Given the description of an element on the screen output the (x, y) to click on. 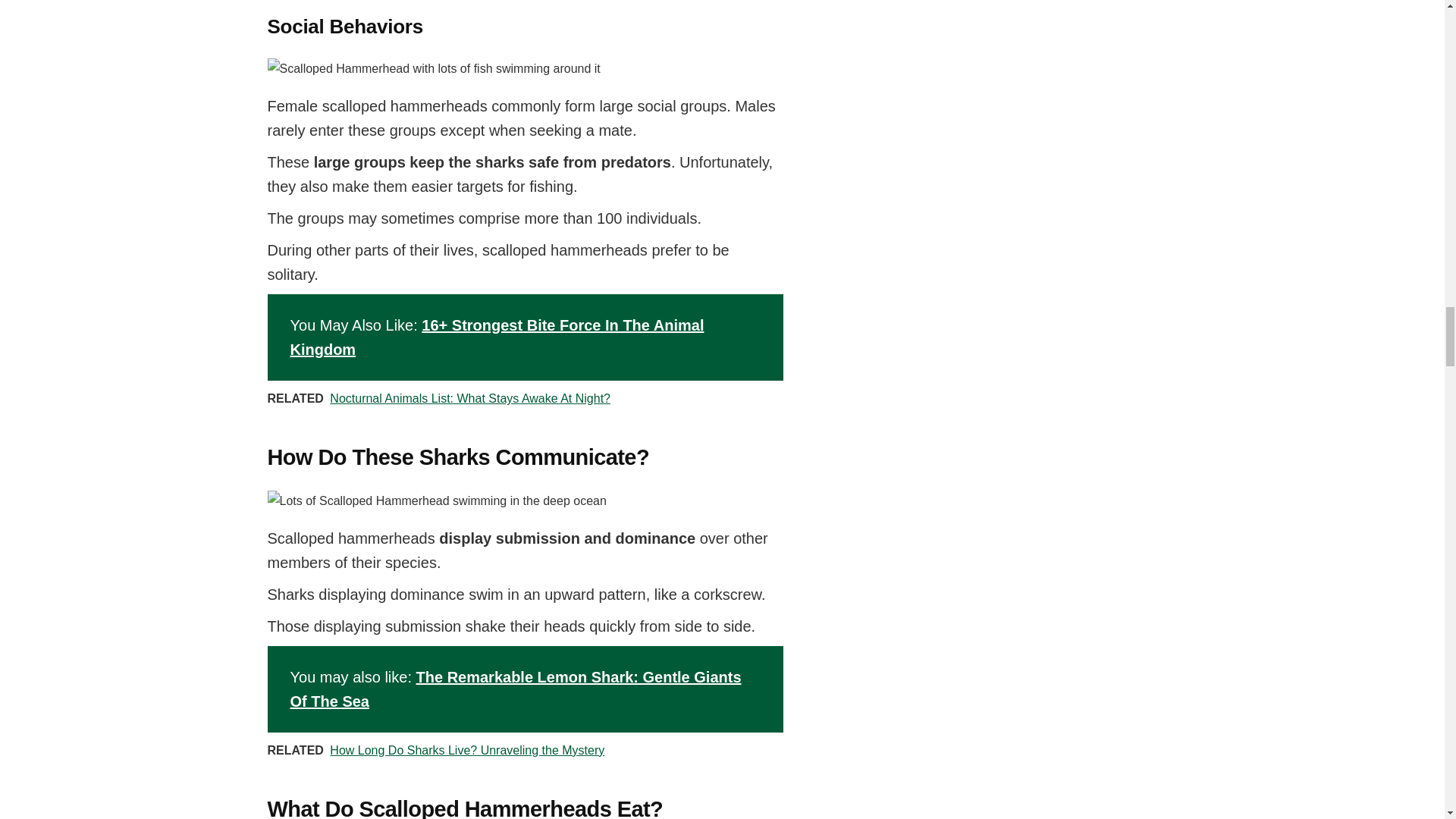
How Long Do Sharks Live? Unraveling the Mystery (467, 749)
The Remarkable Lemon Shark: Gentle Giants Of The Sea (515, 689)
Nocturnal Animals List: What Stays Awake At Night? (470, 398)
